Given the description of an element on the screen output the (x, y) to click on. 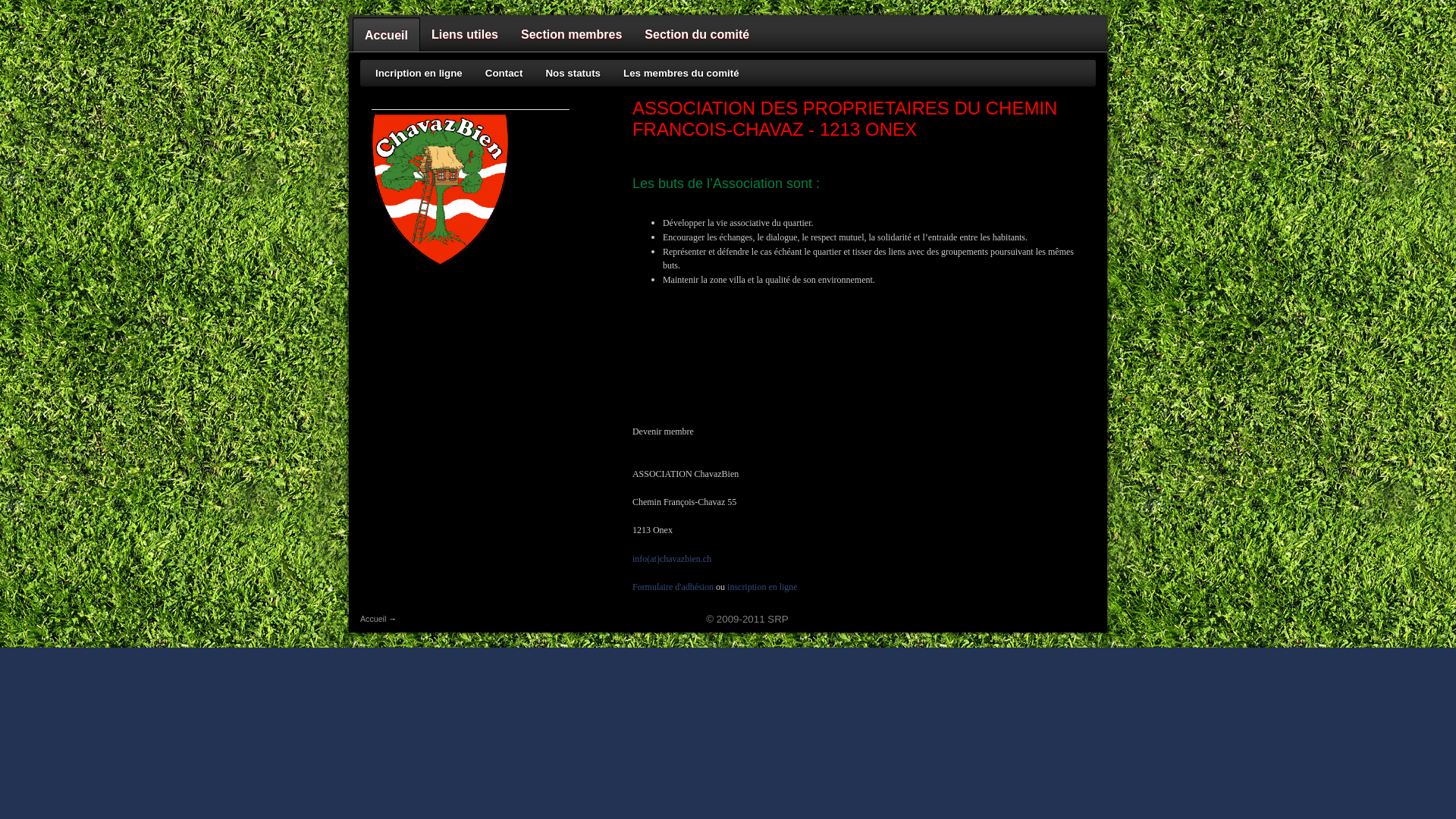
Incription en ligne Element type: text (418, 72)
Accueil Element type: hover (439, 261)
inscription en ligne Element type: text (760, 586)
info(at)chavazbien.ch Element type: text (671, 558)
Accueil Element type: text (386, 34)
Liens utiles Element type: text (464, 34)
Nos statuts Element type: text (572, 72)
Accueil Element type: text (372, 618)
Section membres Element type: text (571, 34)
Contact Element type: text (503, 72)
